Given the description of an element on the screen output the (x, y) to click on. 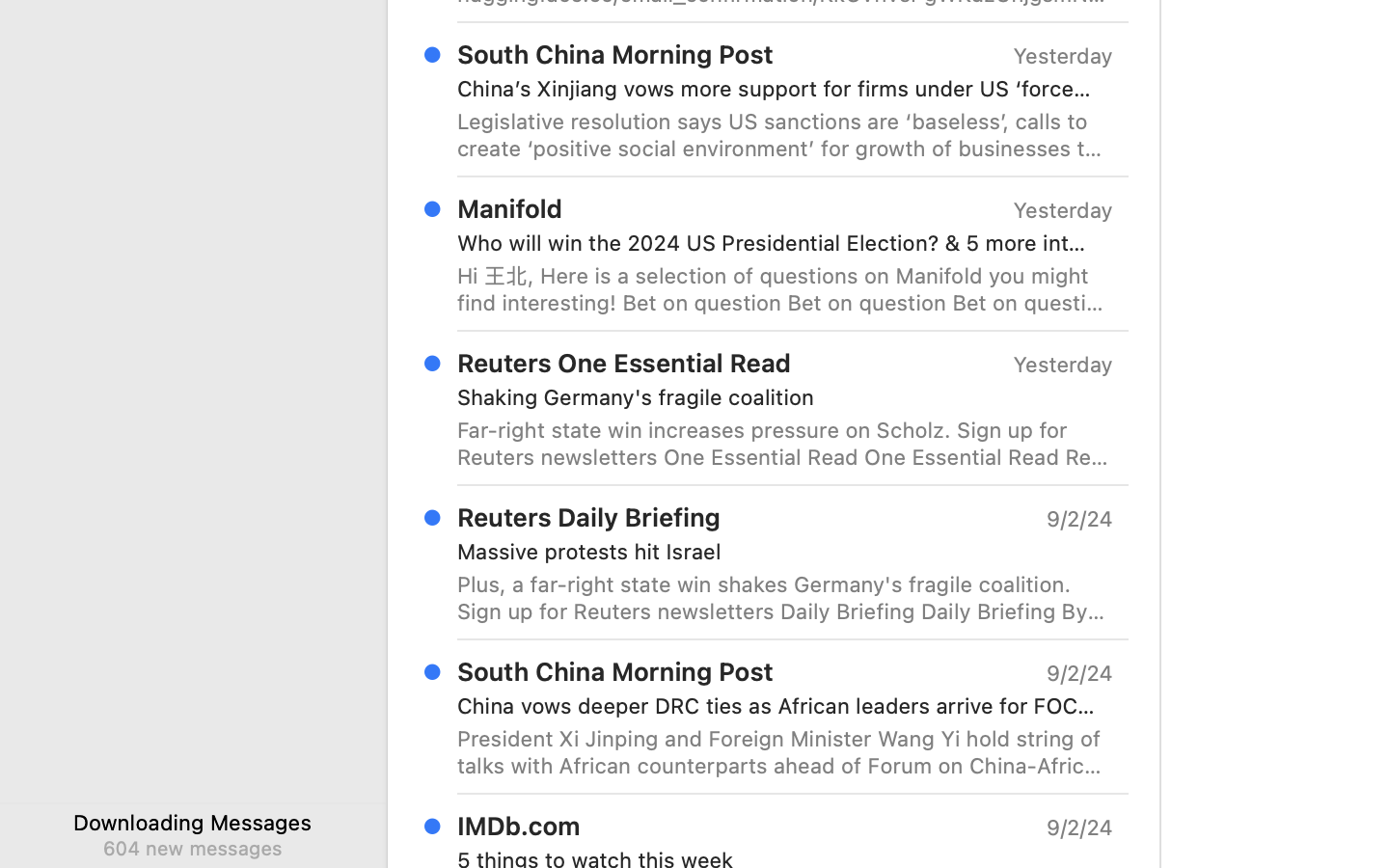
Manifold Element type: AXStaticText (510, 207)
Shaking Germany's fragile coalition Element type: AXStaticText (777, 396)
President Xi Jinping and Foreign Minister Wang Yi hold string of talks with African counterparts ahead of Forum on China-Africa ... - South China Morning Post, SCMP, SCMP Today: Intl Edition - President Xi Jinping and Foreign Minister Wang Yi hold string of talks with African counterparts ahead of Forum on China-Africa ... Monday 2nd September, 2024 China politics & diplomacy ChinaChina vows deeper DRC ties as African leaders arrive for FOCAC meetings2 Sep, 2024 - 05:13 pmPresident Xi Jinping and Foreign Minister Wang Yi hold string of talks with African counterparts ahead of Forum on China-Africa Cooperation. EconomyChina moves to curb money worship, extravagance and excess in financial sector2 Sep, 2024 - 04:04 pm EconomyChina’s yuan to continue to gain, but outlook hinges on Fed rate cuts: analysts2 Sep, 2024 - 05:42 pm Featured Podcast3. Millennials, GenZ and hire education Video Of The Day Hong Kong’s youngest Paralympic medallist Jasmine Ng clinches swimming bronze at age 14OPINI Element type: AXStaticText (784, 752)
Downloading Messages Element type: AXStaticText (192, 821)
Massive protests hit Israel Element type: AXStaticText (777, 551)
